Given the description of an element on the screen output the (x, y) to click on. 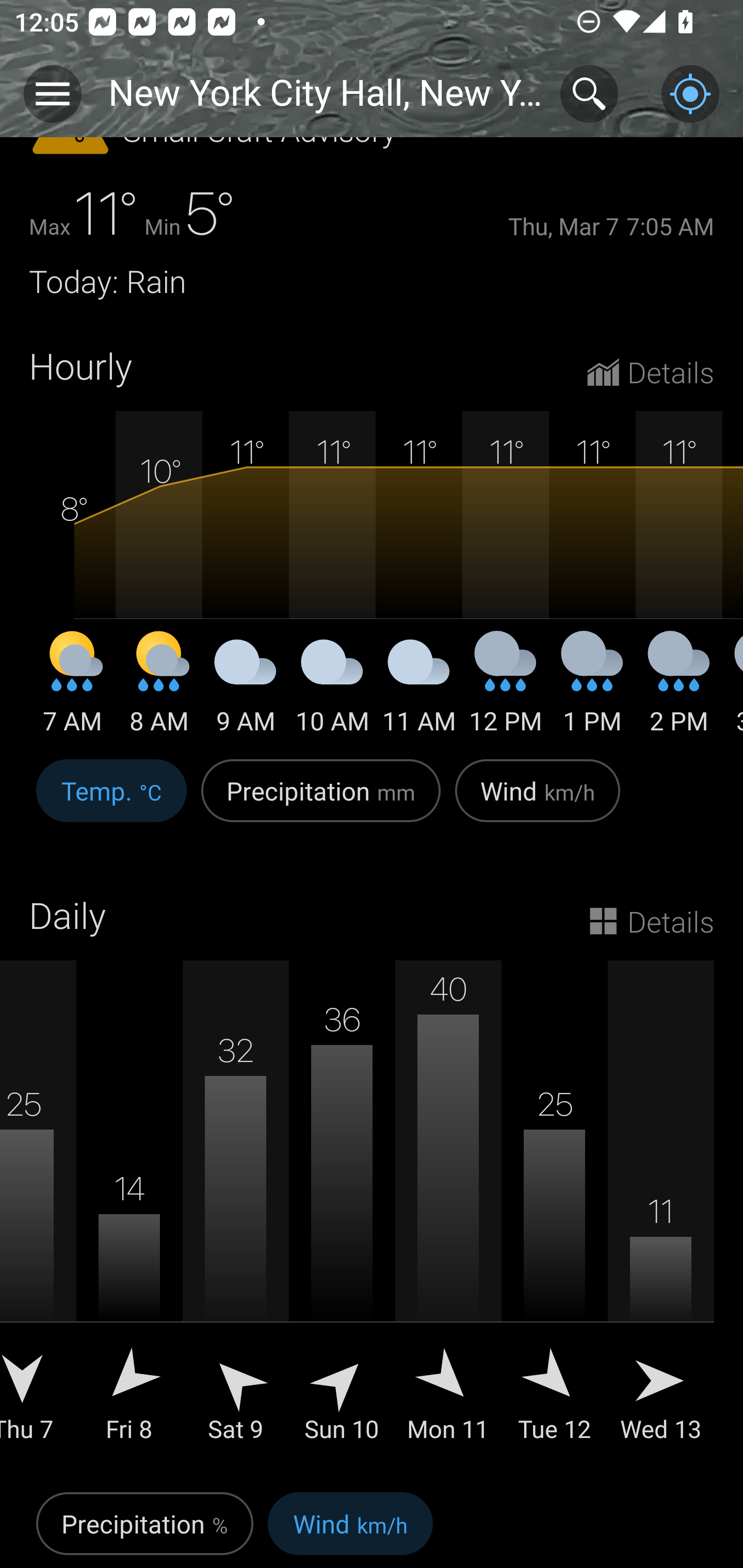
7 AM 8 AM 9 AM 10 AM 11 AM 12 PM 1 PM 2 PM 3 PM (371, 574)
7 AM (71, 689)
8 AM (158, 689)
9 AM (245, 689)
10 AM (332, 689)
11 AM (418, 689)
12 PM (505, 689)
1 PM (592, 689)
2 PM (679, 689)
Temp. °C (110, 801)
Precipitation mm (320, 801)
Wind km/h (537, 801)
25  Thu 7 (38, 1214)
14  Fri 8 (129, 1214)
32  Sat 9 (235, 1214)
36  Sun 10 (342, 1214)
40  Mon 11 (448, 1214)
25  Tue 12 (554, 1214)
11  Wed 13 (660, 1214)
Precipitation % (144, 1526)
Wind km/h (349, 1526)
